Given the description of an element on the screen output the (x, y) to click on. 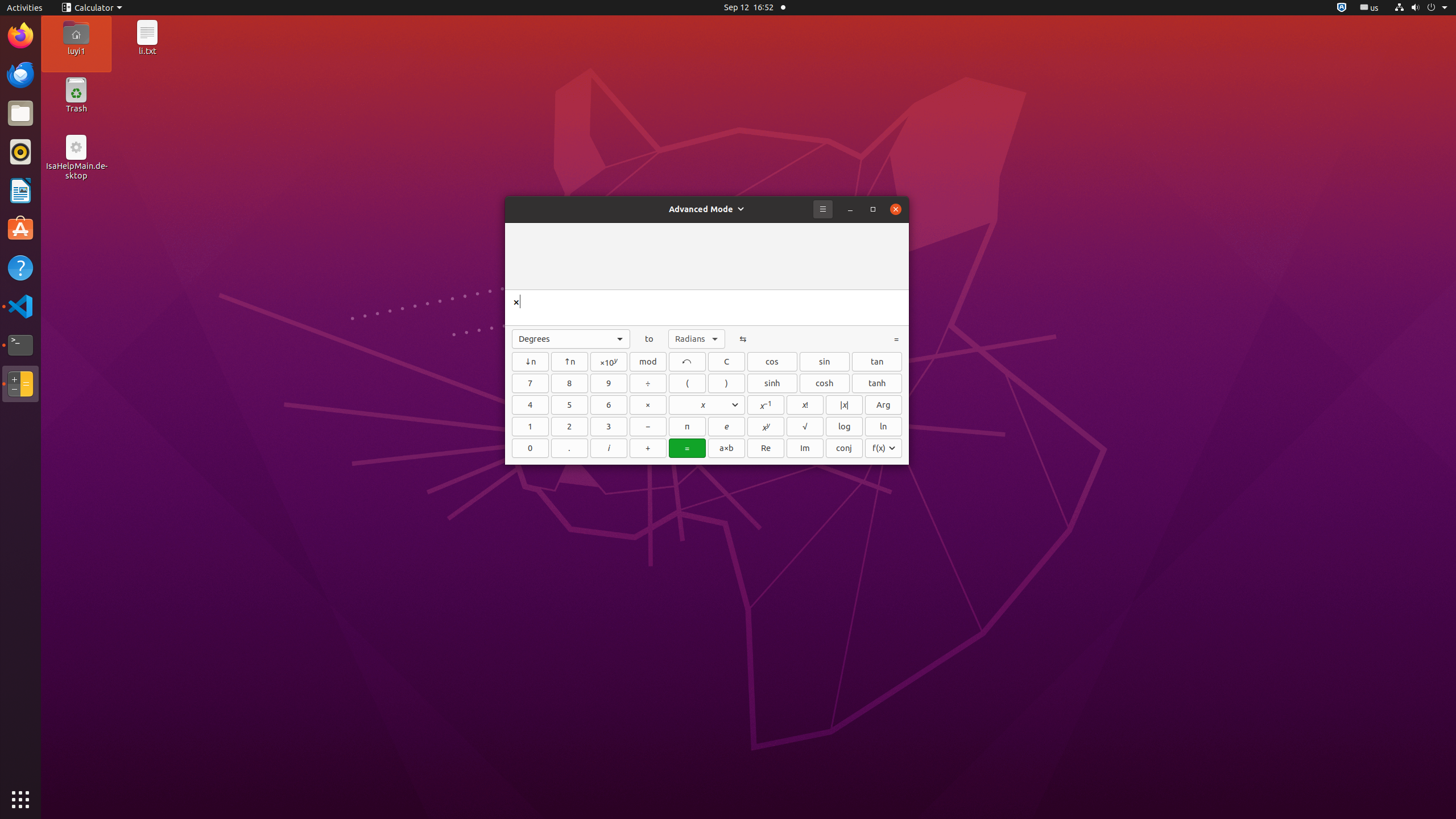
ln Element type: push-button (883, 426)
conj Element type: push-button (843, 447)
Calculator Element type: menu (91, 7)
2 Element type: push-button (569, 426)
Trash Element type: label (75, 108)
